Given the description of an element on the screen output the (x, y) to click on. 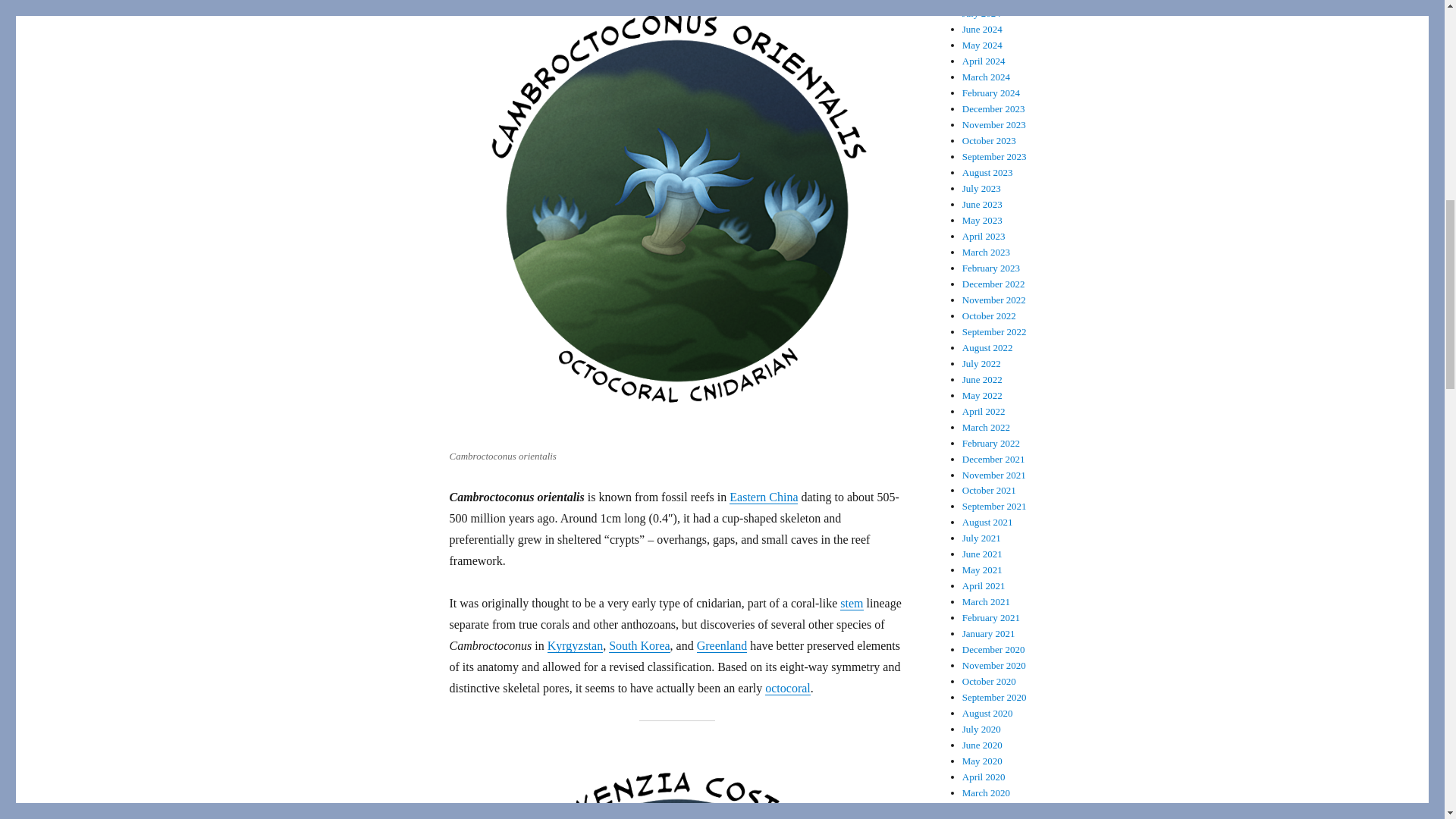
Greenland (722, 645)
octocoral (787, 687)
Kyrgyzstan (574, 645)
South Korea (638, 645)
stem (851, 603)
Eastern China (763, 496)
